Given the description of an element on the screen output the (x, y) to click on. 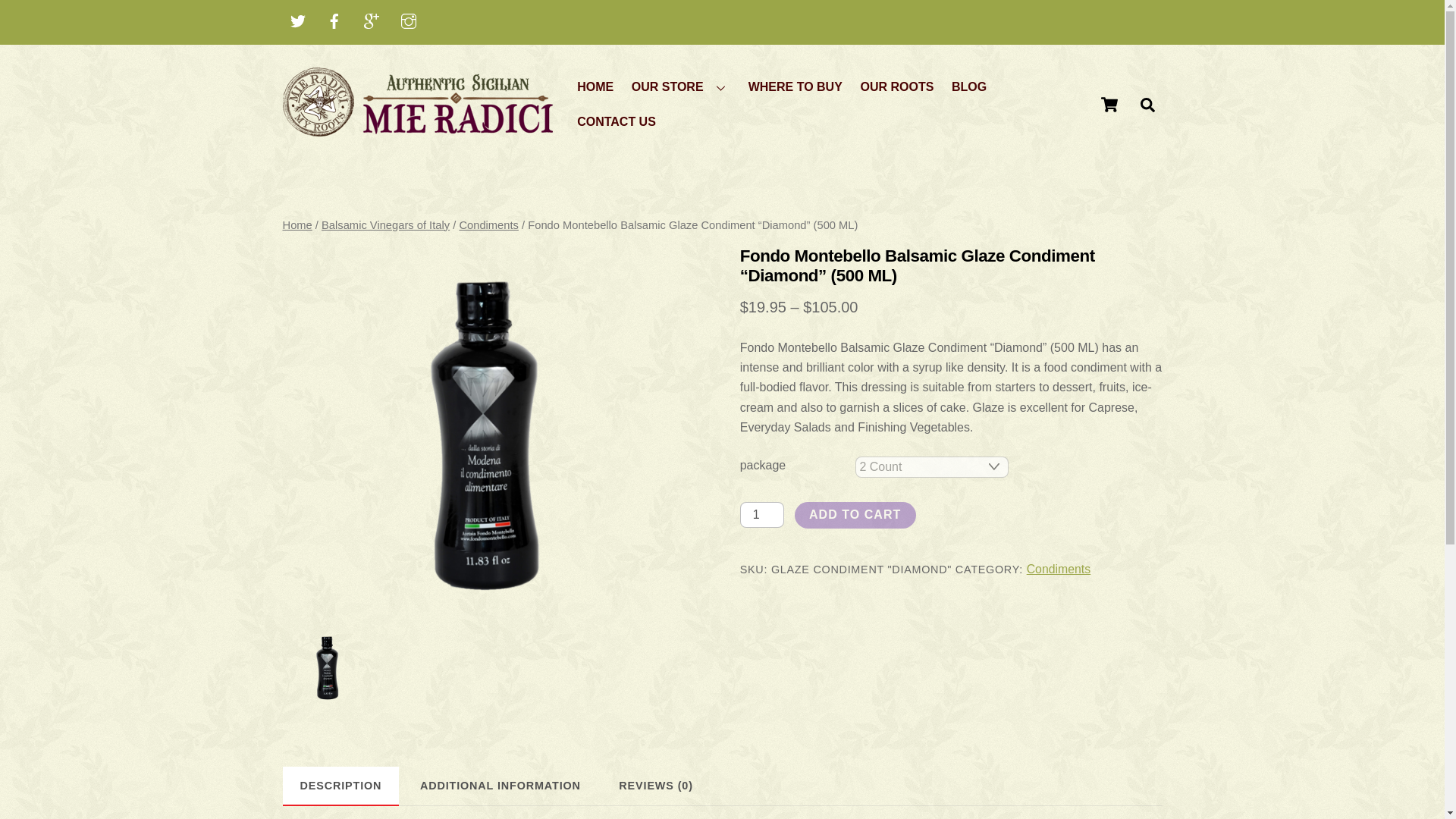
Condiments (1058, 568)
1 (761, 514)
Balsamic Vinegars of Italy (385, 224)
ADD TO CART (854, 515)
BLOG (967, 86)
Home (296, 224)
OUR ROOTS (896, 86)
Condiments (488, 224)
DESCRIPTION (340, 784)
Mie Radici Inc (418, 128)
OUR STORE (680, 86)
Cart (1108, 104)
ADDITIONAL INFORMATION (500, 784)
HOME (595, 86)
